Given the description of an element on the screen output the (x, y) to click on. 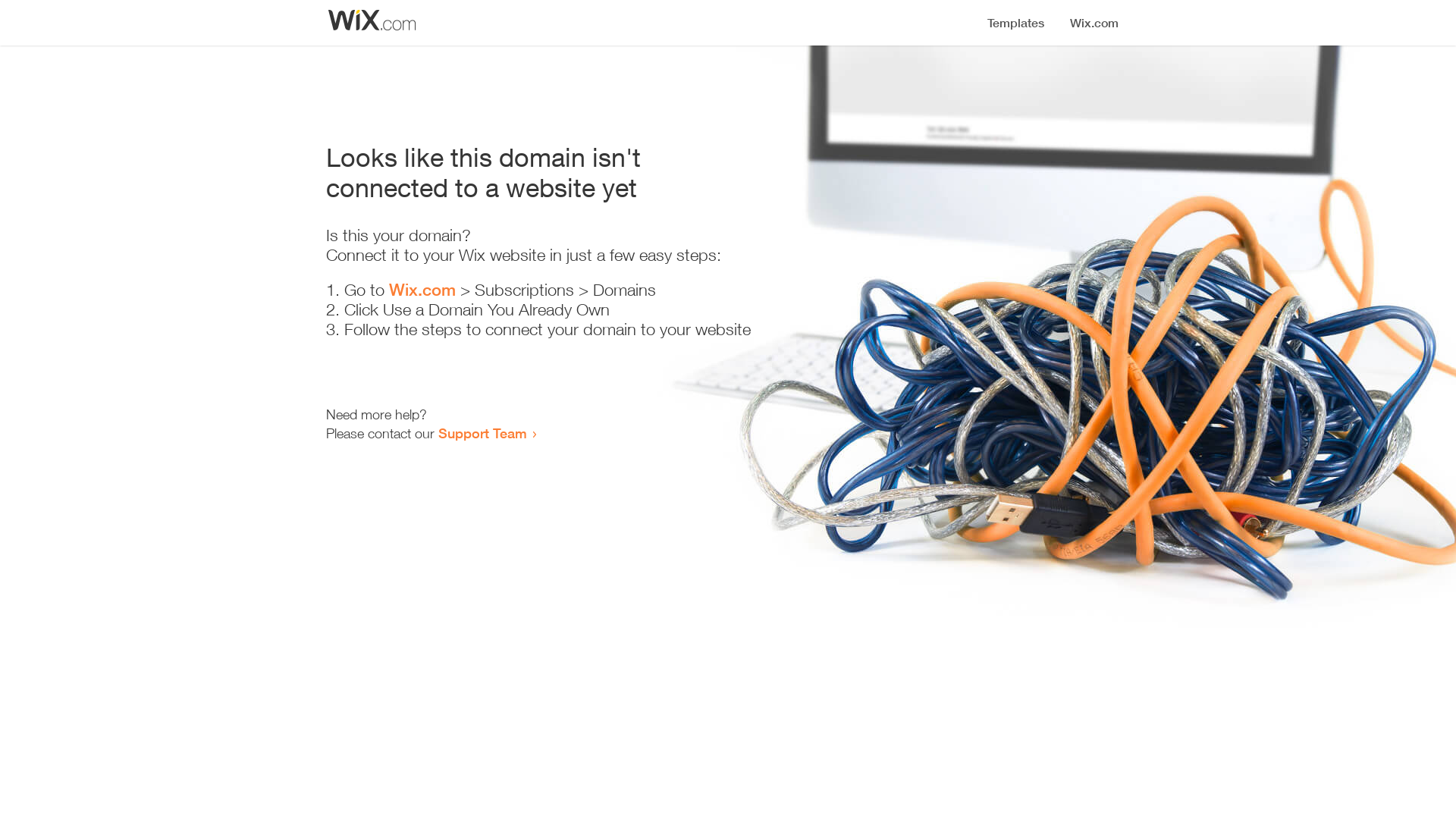
Support Team Element type: text (482, 432)
Wix.com Element type: text (422, 289)
